Given the description of an element on the screen output the (x, y) to click on. 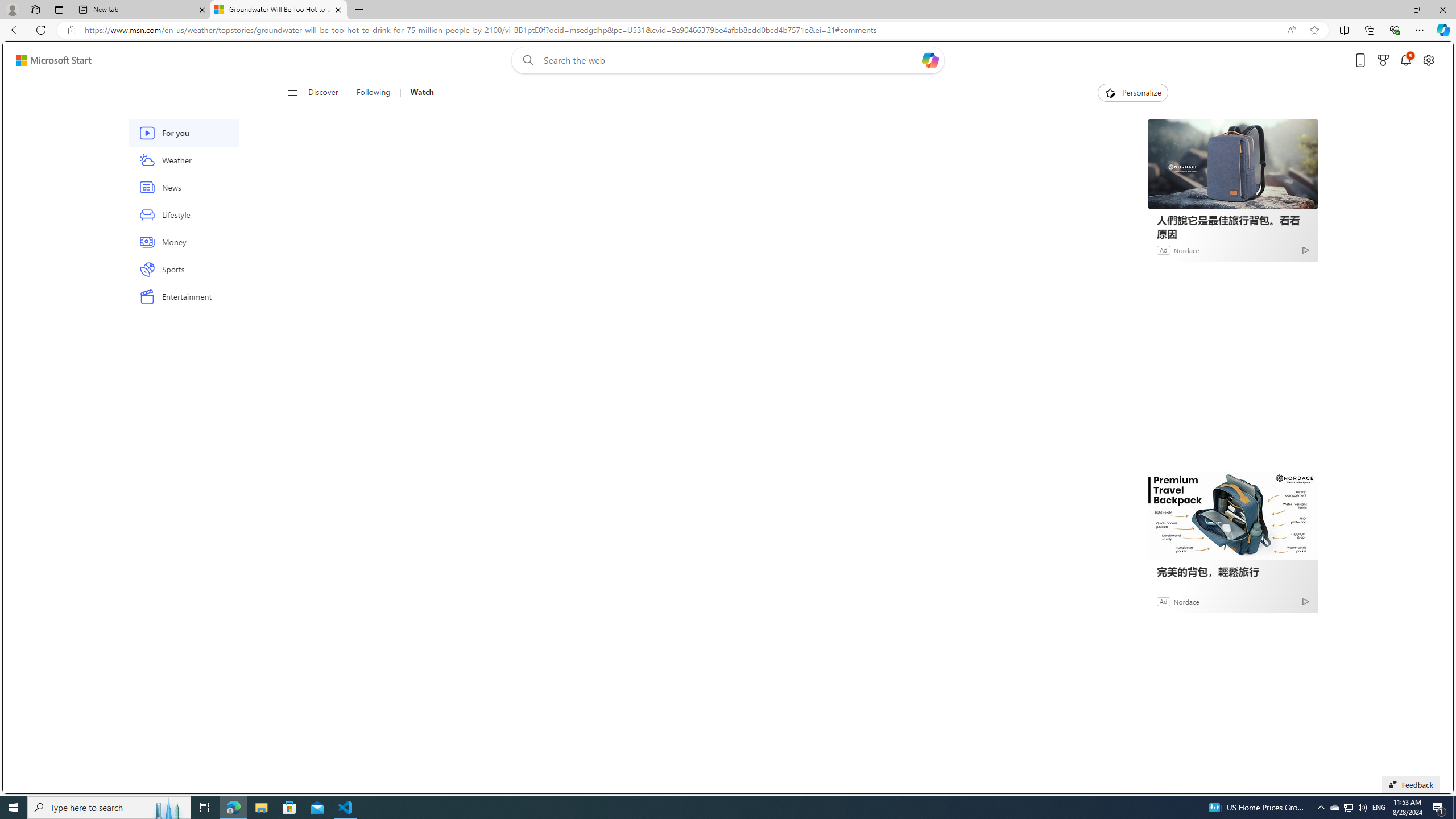
Open navigation menu (292, 92)
